Given the description of an element on the screen output the (x, y) to click on. 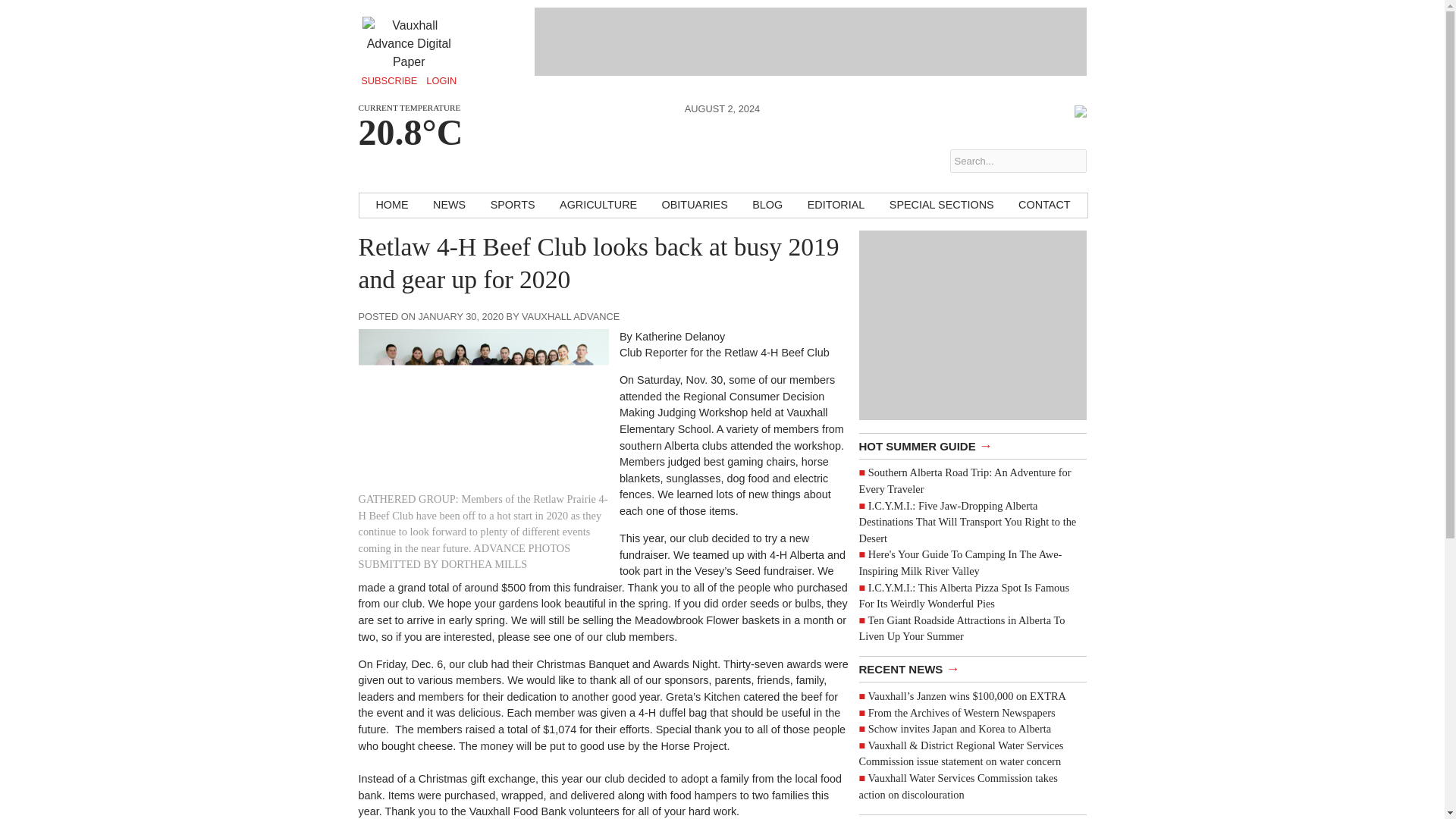
AGRICULTURE (597, 205)
Southern Alberta Road Trip: An Adventure for Every Traveler (964, 480)
LOGIN (441, 79)
SPECIAL SECTIONS (941, 205)
SUBSCRIBE (389, 79)
HOME (392, 205)
Schow invites Japan and Korea to Alberta (959, 728)
NEWS (449, 205)
CONTACT (1043, 205)
OBITUARIES (694, 205)
BLOG (767, 205)
